Given the description of an element on the screen output the (x, y) to click on. 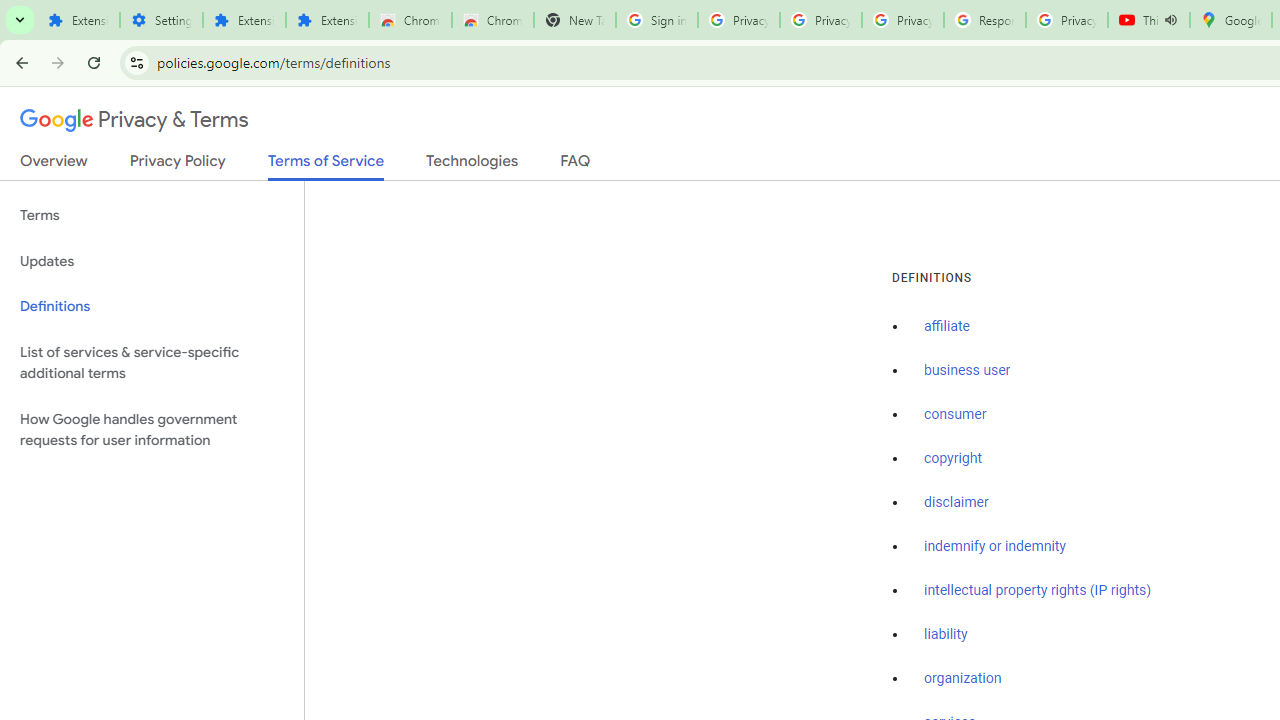
organization (963, 679)
Extensions (78, 20)
copyright (952, 459)
indemnify or indemnity (995, 546)
affiliate (947, 327)
